Given the description of an element on the screen output the (x, y) to click on. 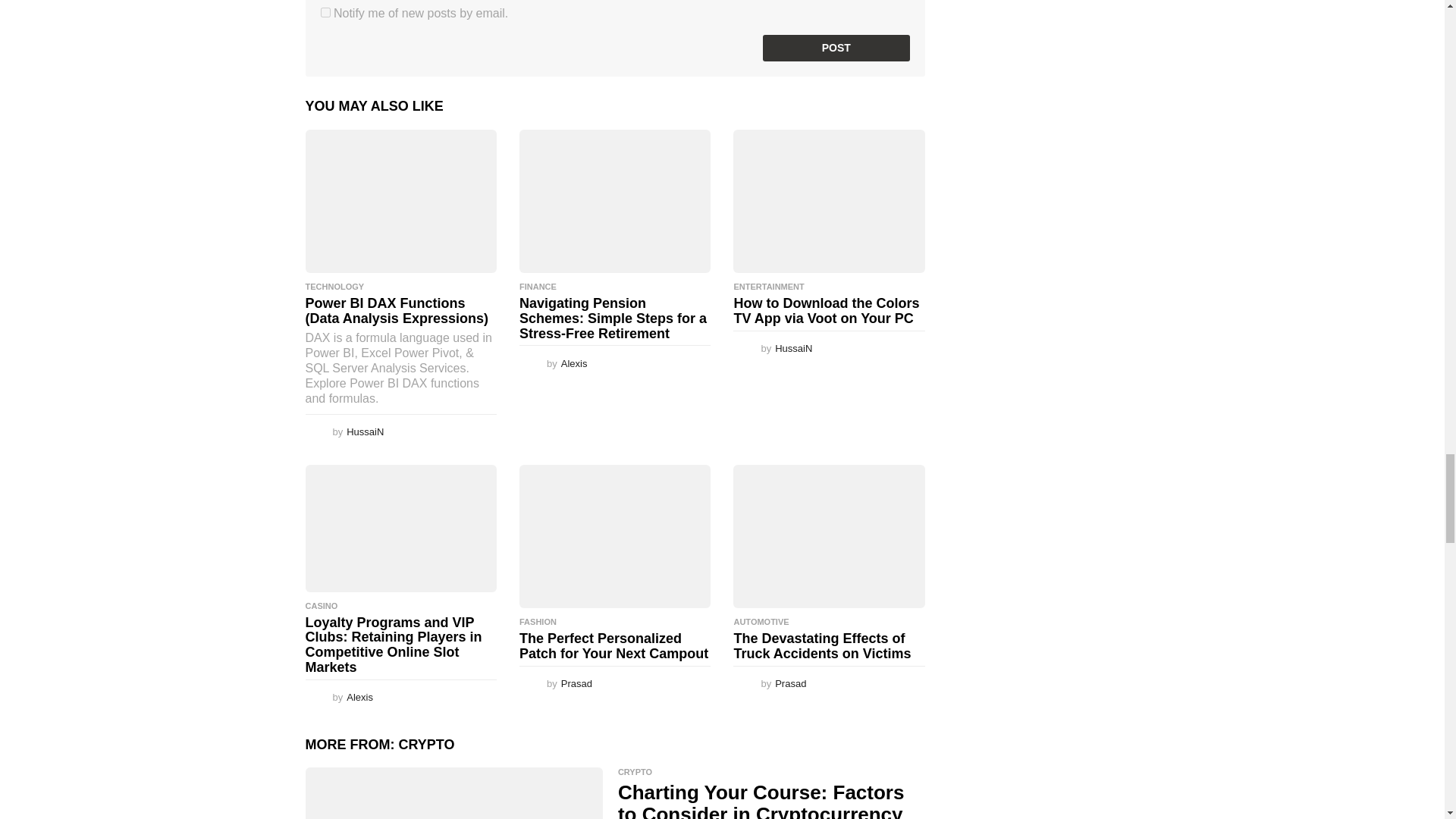
subscribe (325, 12)
Post (836, 48)
How to Download the Colors TV App via Voot on Your PC (828, 200)
The Perfect Personalized Patch for Your Next Campout (614, 536)
